Given the description of an element on the screen output the (x, y) to click on. 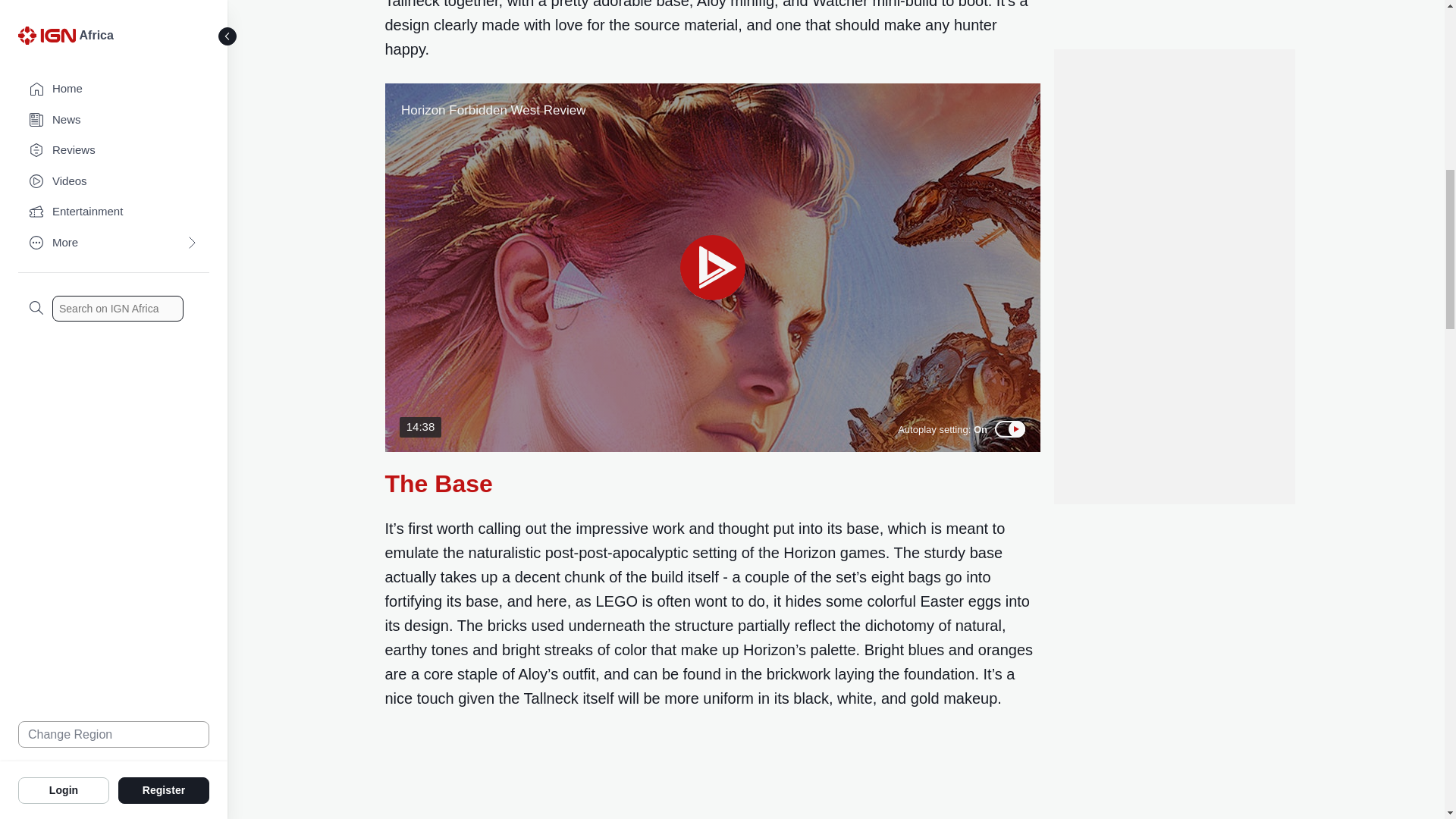
3rd party ad content (1173, 95)
